Given the description of an element on the screen output the (x, y) to click on. 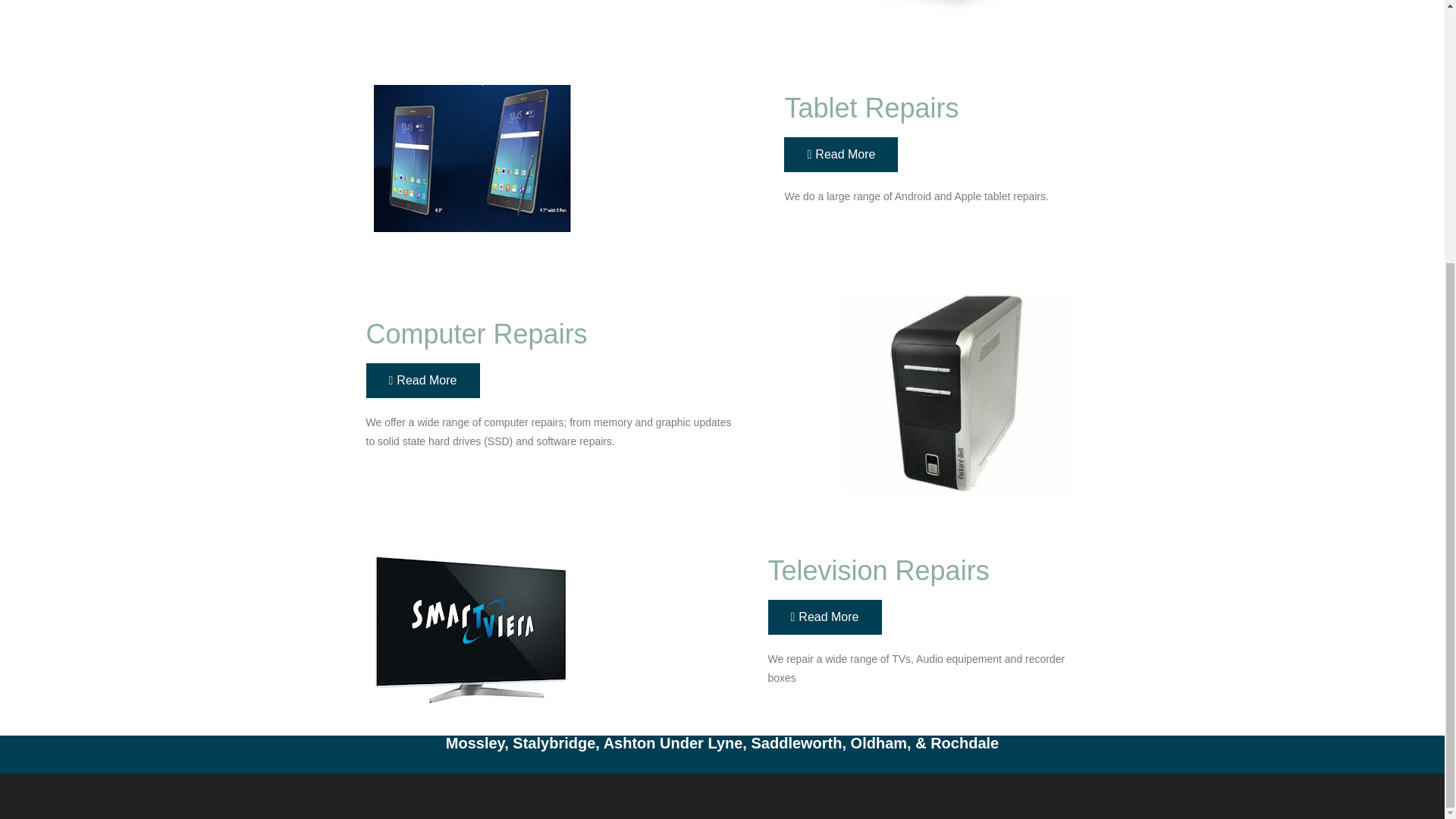
Read More (841, 154)
Read More (823, 616)
Read More (422, 380)
